Given the description of an element on the screen output the (x, y) to click on. 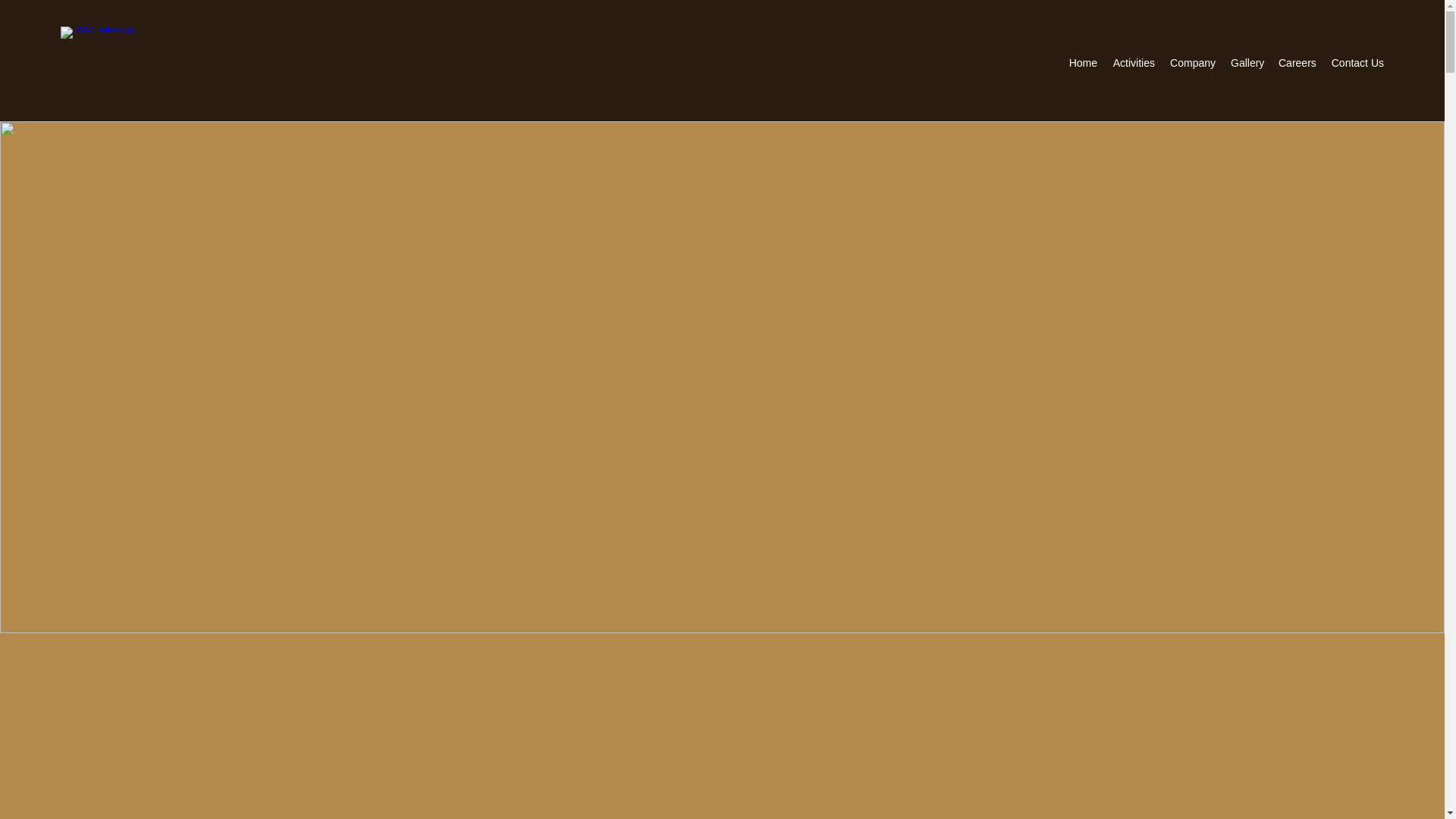
Contact Us (1357, 62)
Gallery (1247, 62)
Home (1083, 62)
Careers (1297, 62)
